Given the description of an element on the screen output the (x, y) to click on. 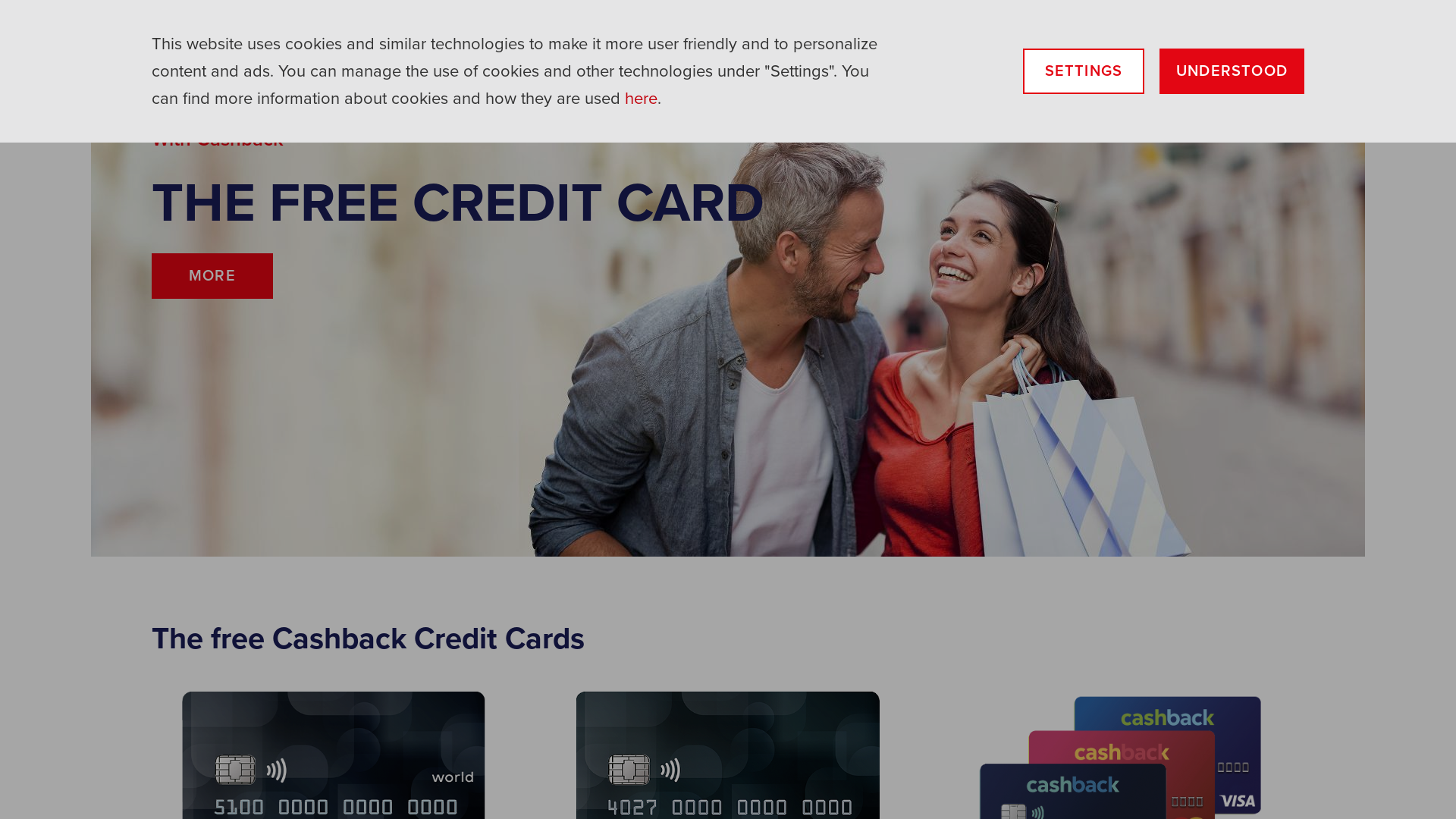
MORE Element type: text (212, 275)
CASHBACK CREDIT CARD Element type: text (514, 24)
HELP Element type: text (1238, 24)
here Element type: text (640, 98)
DIGITAL SERVICES Element type: text (935, 24)
SETTINGS Element type: text (1083, 71)
UNDERSTOOD Element type: text (1231, 71)
Home Element type: text (258, 24)
EN Element type: text (1292, 24)
CASHBACK PROGRAM Element type: text (739, 24)
